Given the description of an element on the screen output the (x, y) to click on. 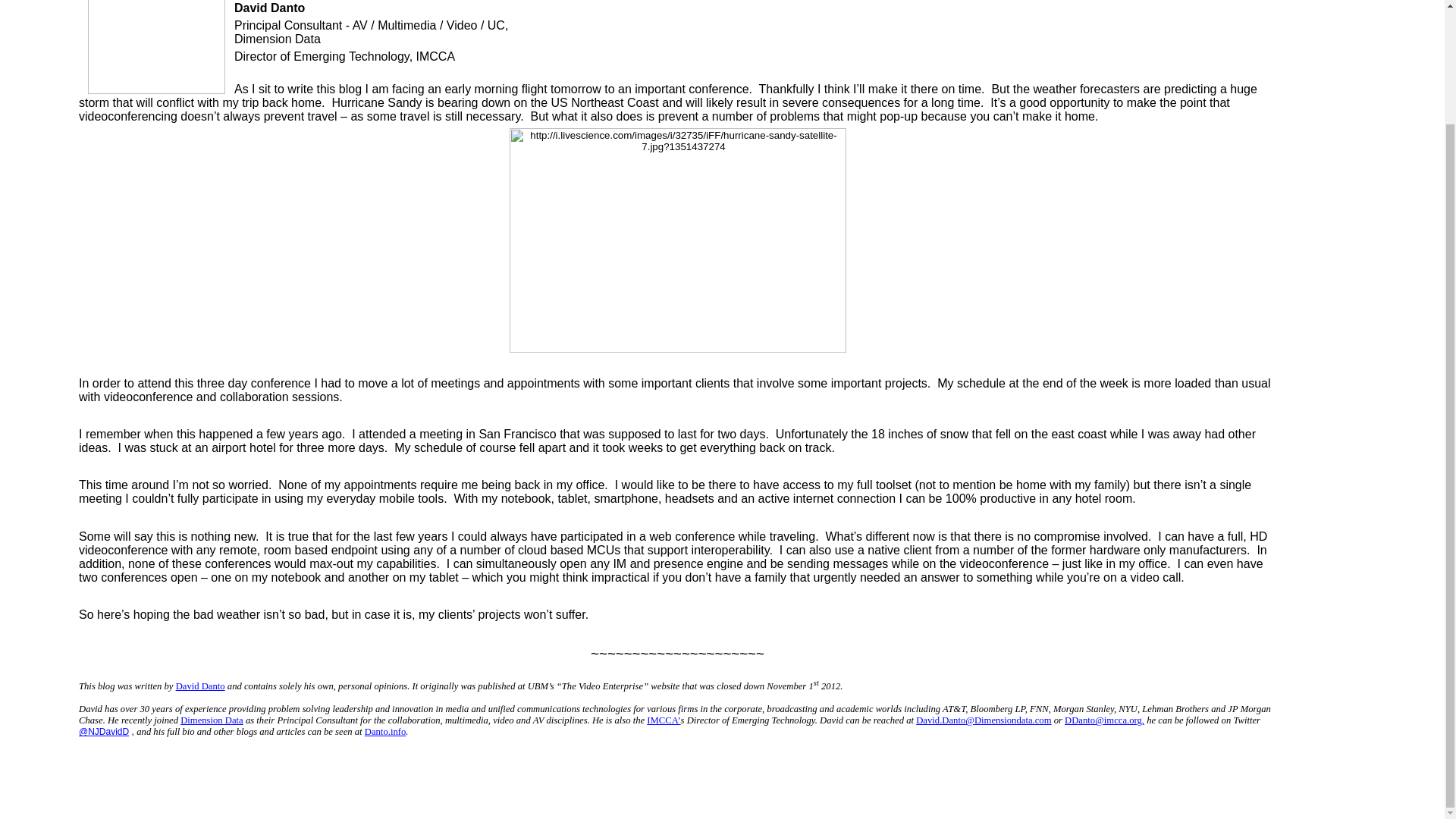
Danto.info (385, 730)
Dimension Data (211, 718)
David Danto (200, 684)
